Given the description of an element on the screen output the (x, y) to click on. 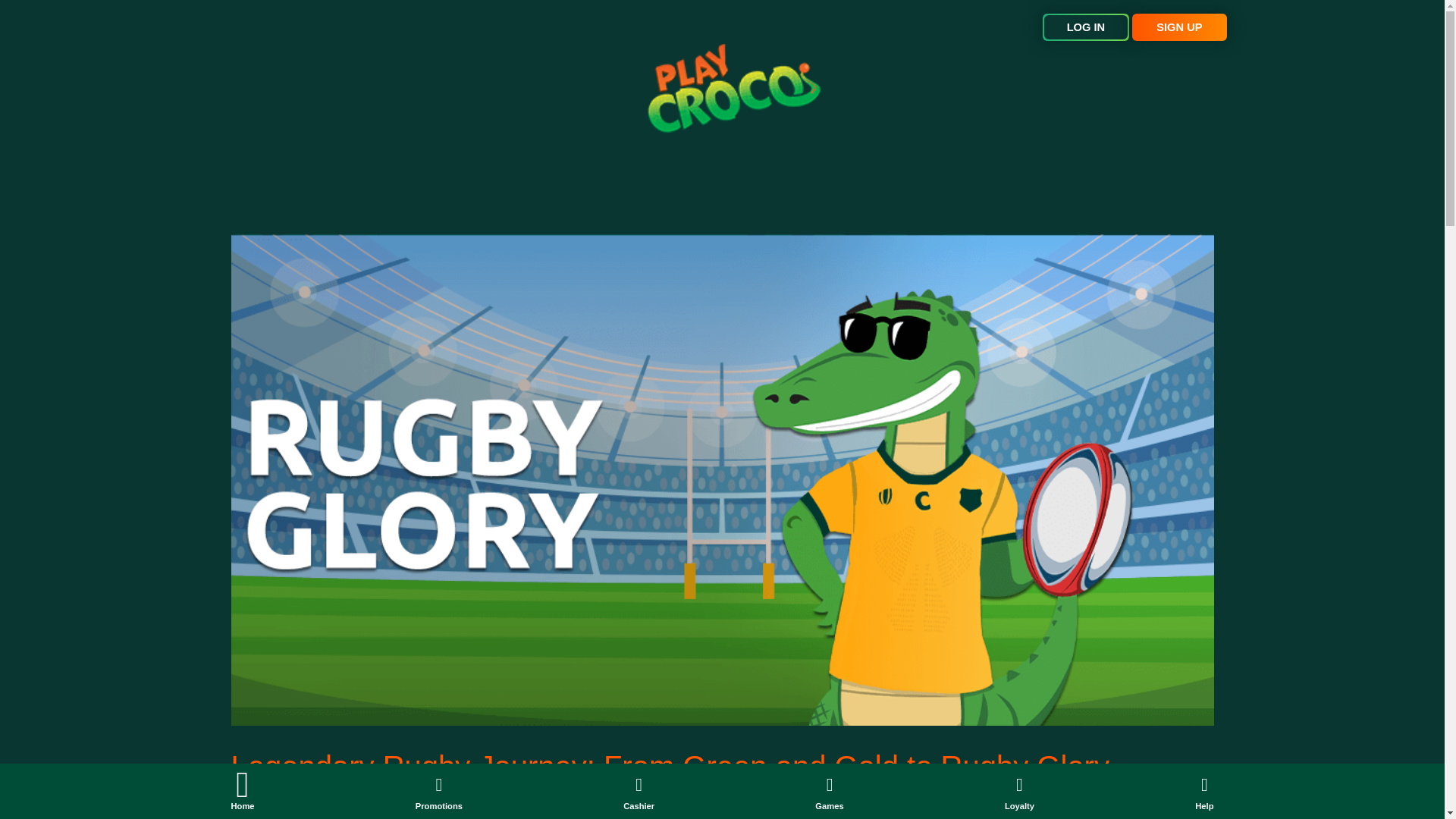
SIGN UP (1178, 26)
LOG IN (1085, 26)
Legendary Rugby Journey: From Green and Gold to Rugby Glory (669, 766)
PlayCroco (733, 88)
